Given the description of an element on the screen output the (x, y) to click on. 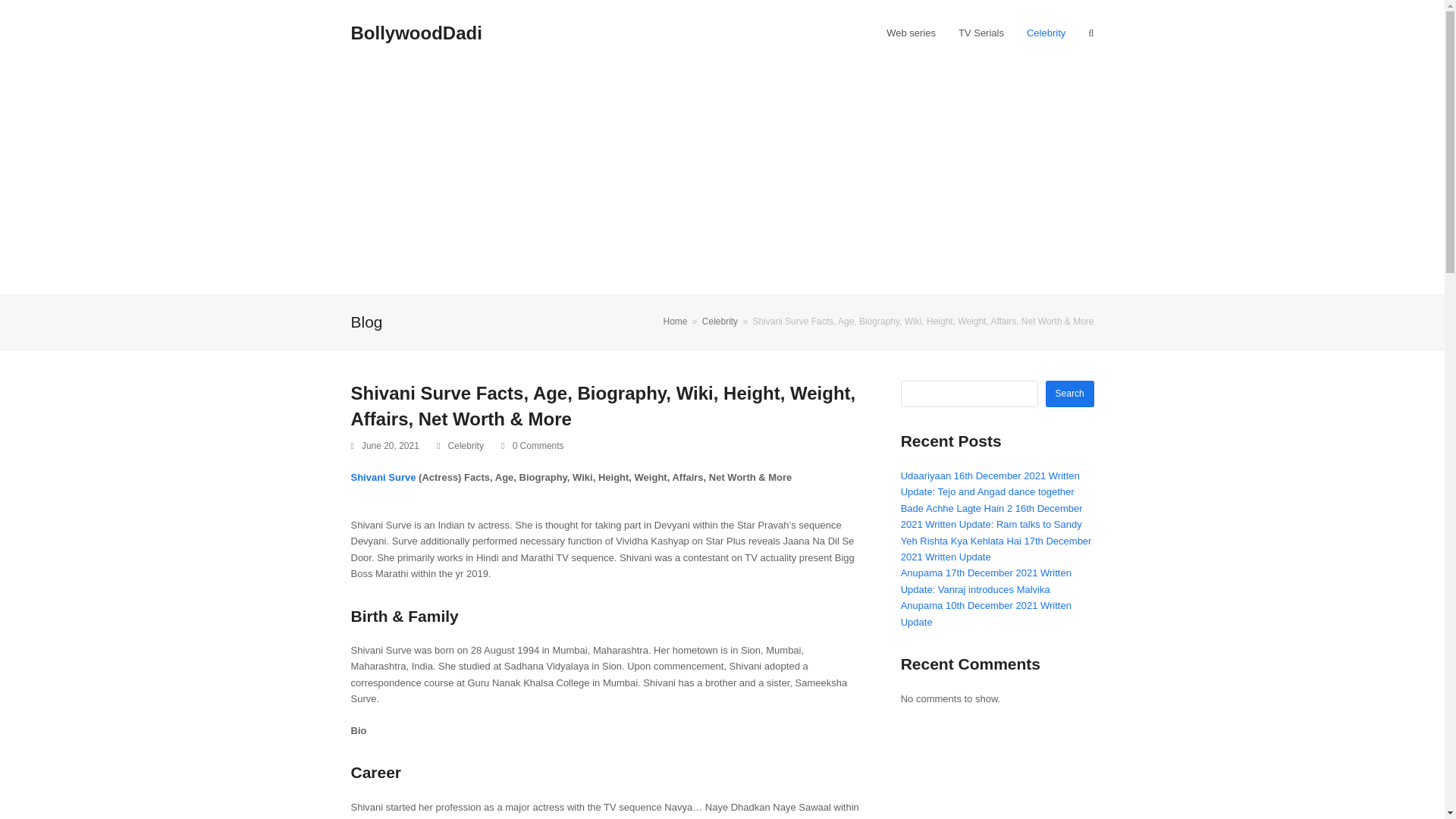
0 Comments (531, 446)
Celebrity (719, 321)
Celebrity (465, 445)
TV Serials (980, 33)
BollywoodDadi (415, 32)
Home (675, 321)
0 Comments (538, 445)
Yeh Rishta Kya Kehlata Hai 17th December 2021 Written Update (996, 548)
